Given the description of an element on the screen output the (x, y) to click on. 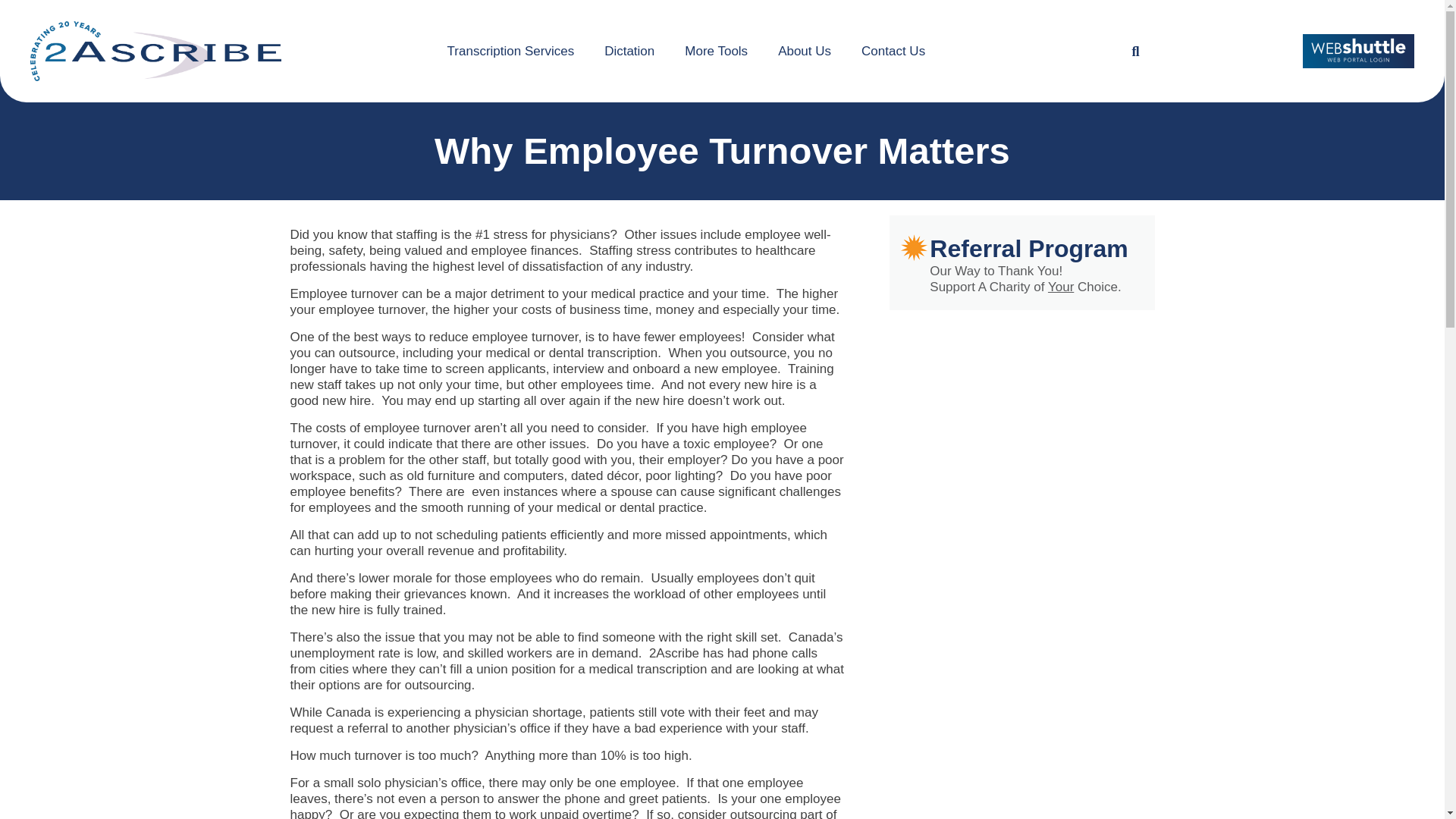
Transcription Services (510, 50)
More Tools (715, 50)
About Us (803, 50)
Contact Us (892, 50)
Dictation (629, 50)
WEBshuttle (1358, 50)
